Given the description of an element on the screen output the (x, y) to click on. 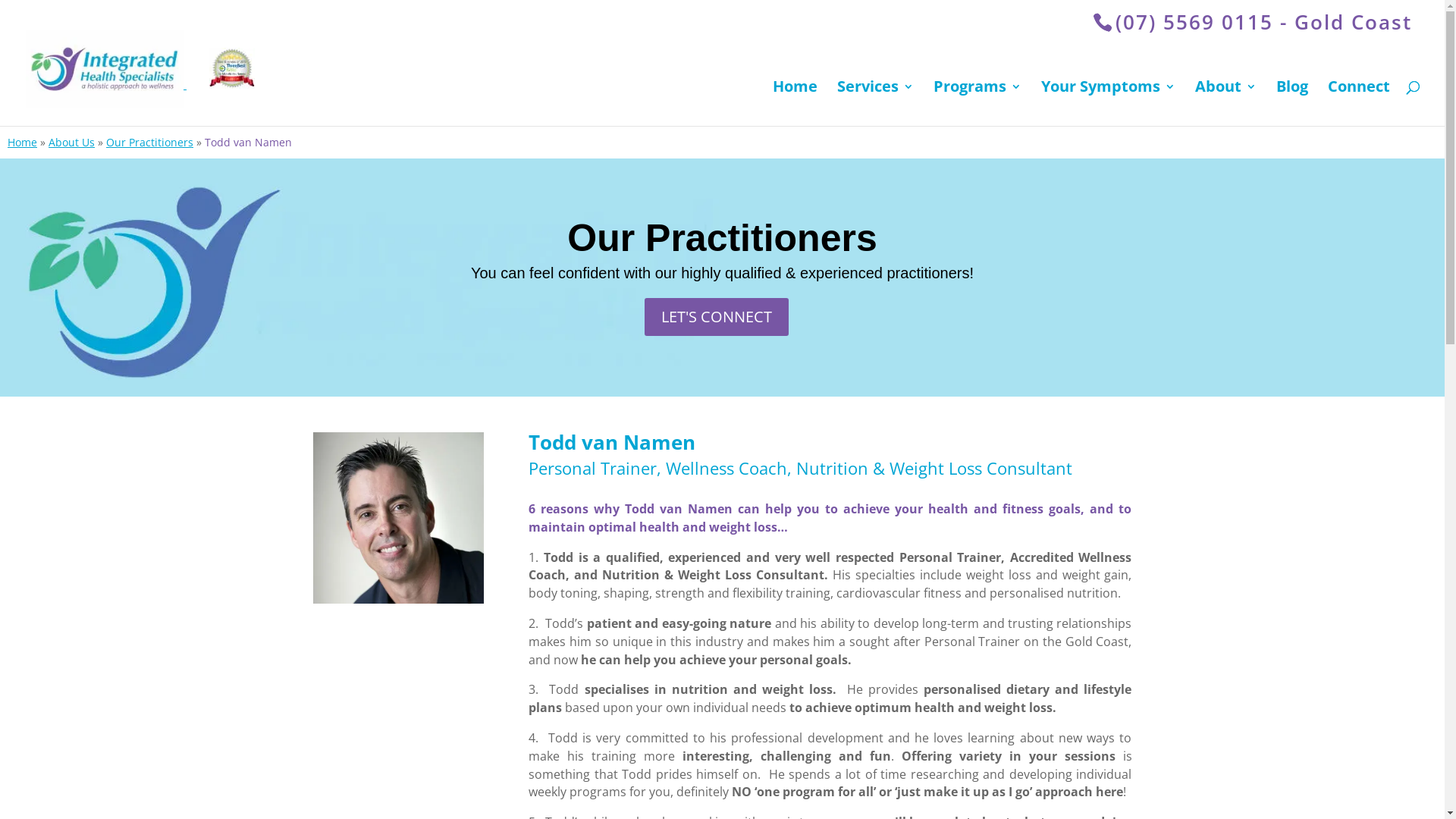
Services Element type: text (875, 102)
Blog Element type: text (1292, 102)
Connect Element type: text (1358, 102)
About Element type: text (1225, 102)
LET'S CONNECT Element type: text (716, 316)
Our Practitioners Element type: text (149, 141)
Your Symptoms Element type: text (1108, 102)
Todd van Namen - Integrated Health Specialists Element type: hover (397, 517)
About Us Element type: text (71, 141)
Home Element type: text (22, 141)
Home Element type: text (794, 102)
Programs Element type: text (977, 102)
